Given the description of an element on the screen output the (x, y) to click on. 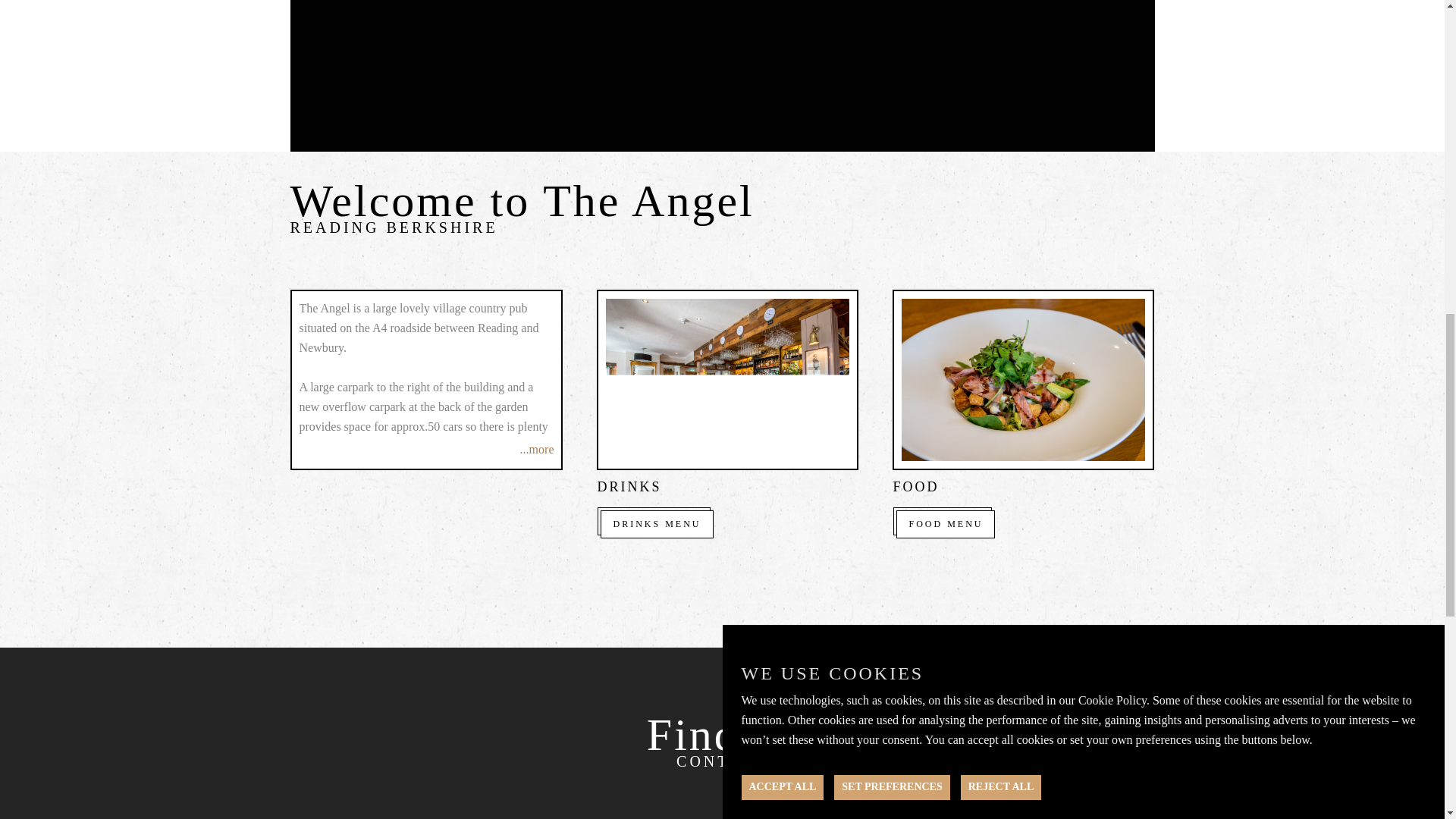
...more (536, 449)
FOOD MENU (945, 523)
DRINKS MENU (656, 523)
